Given the description of an element on the screen output the (x, y) to click on. 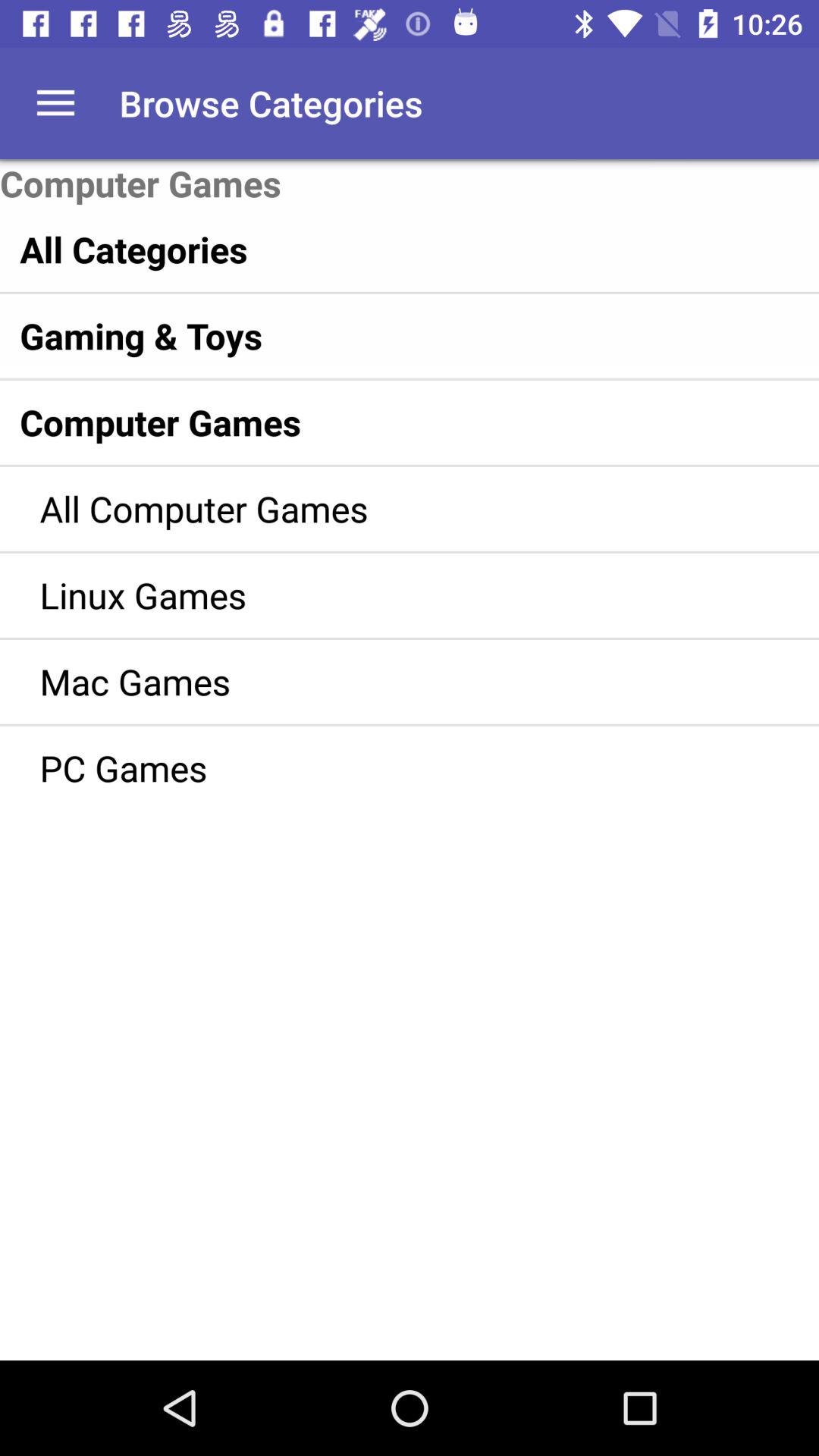
other menu items (55, 103)
